Given the description of an element on the screen output the (x, y) to click on. 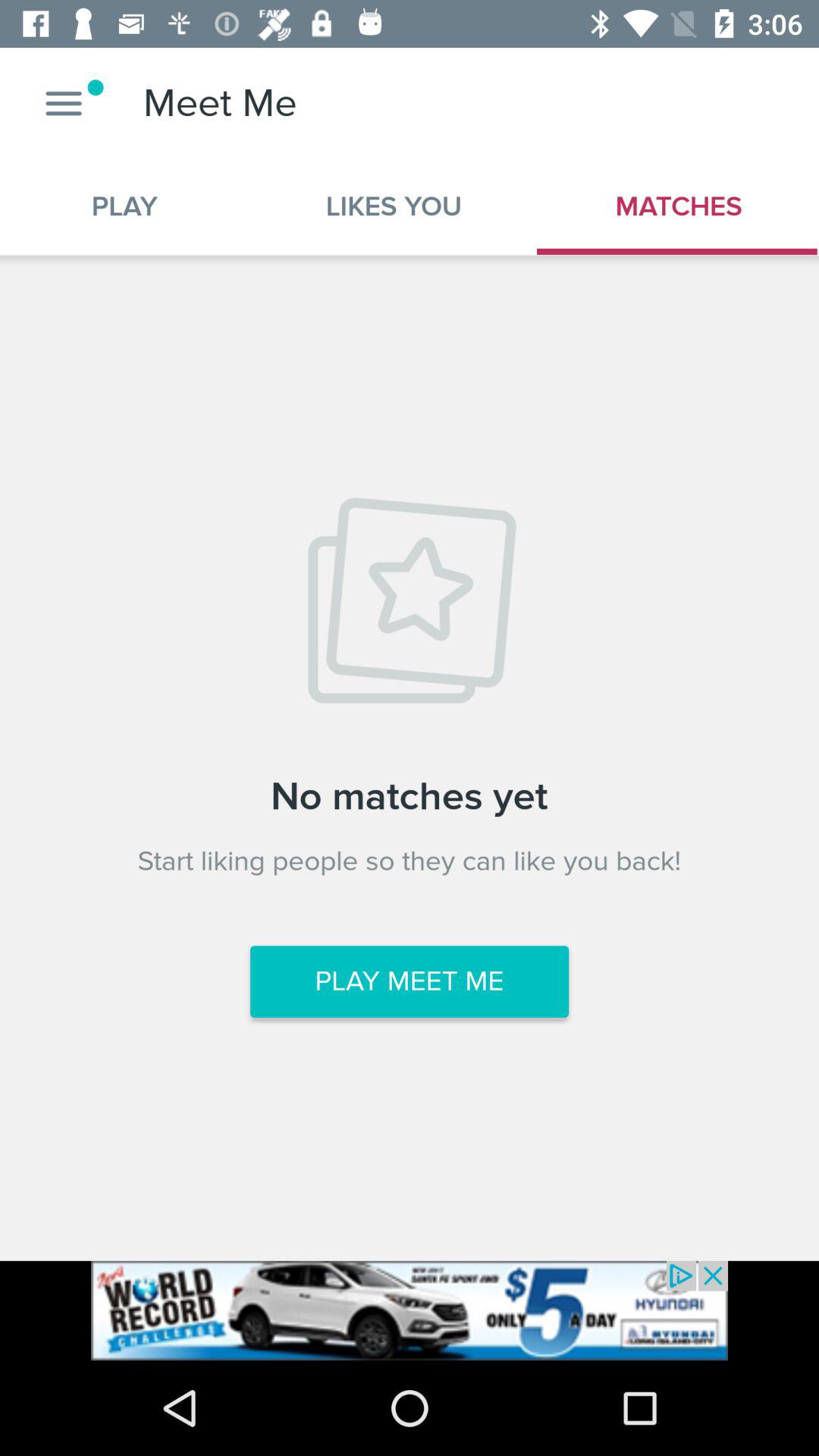
see the advertisement (409, 1310)
